Given the description of an element on the screen output the (x, y) to click on. 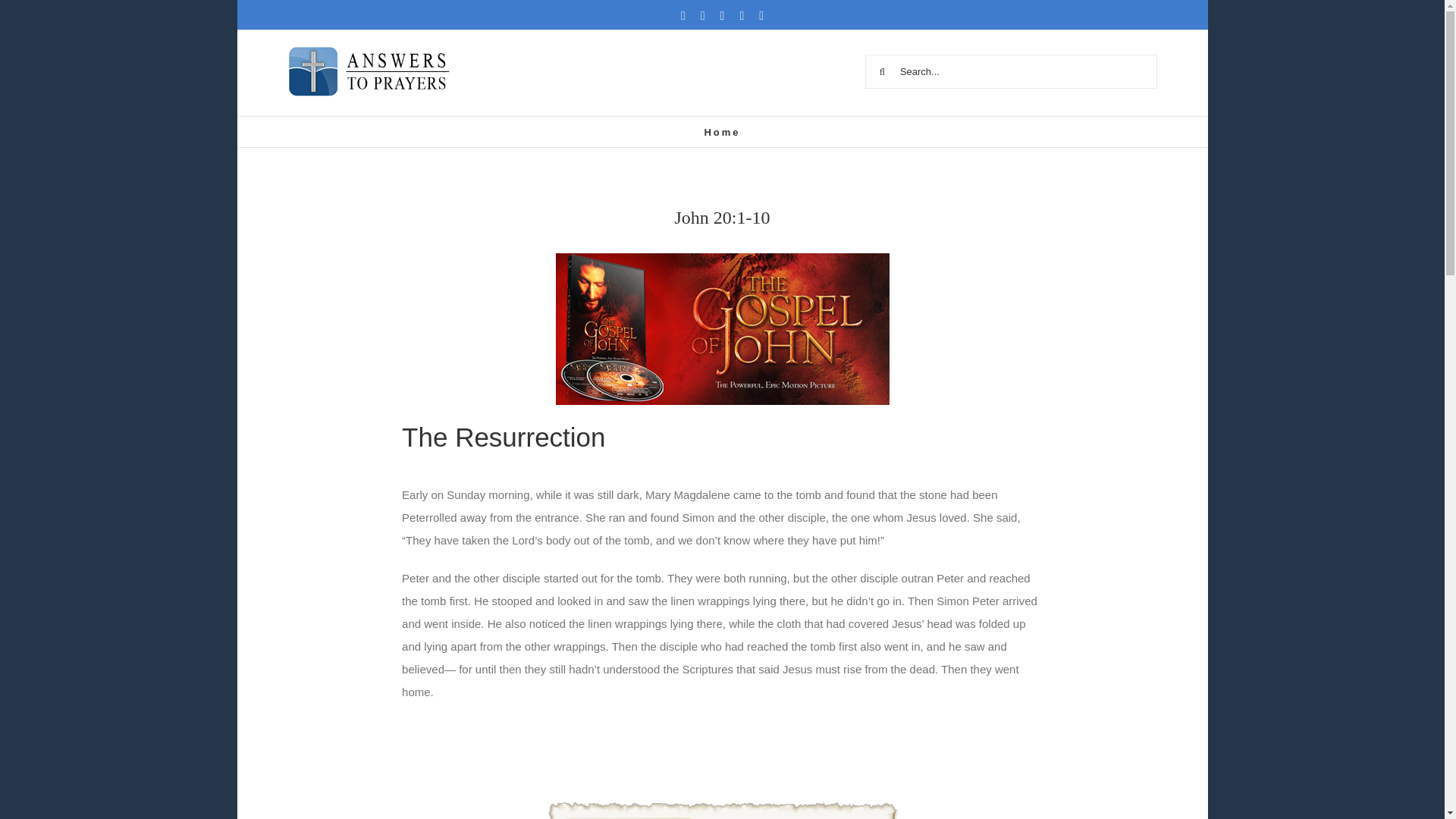
Facebook (683, 15)
Twitter (702, 15)
Pinterest (760, 15)
Instagram (722, 15)
Home (721, 132)
YouTube (741, 15)
gospel-of-john-dvd-set (721, 328)
